Given the description of an element on the screen output the (x, y) to click on. 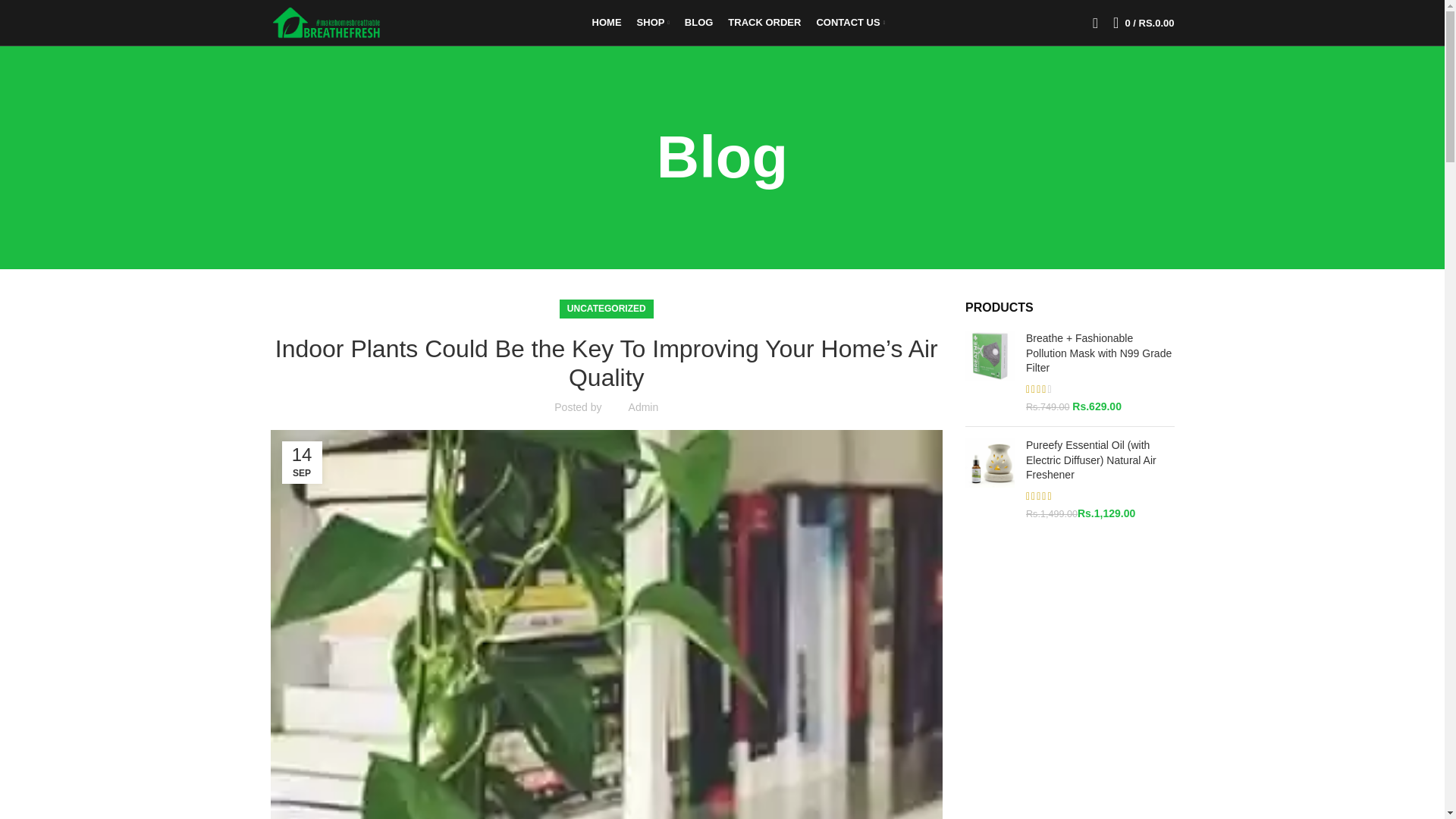
Shopping cart (1142, 22)
SHOP (652, 22)
TRACK ORDER (764, 22)
CONTACT US (850, 22)
UNCATEGORIZED (606, 308)
HOME (606, 22)
BLOG (698, 22)
Log in (972, 261)
Admin (643, 407)
